Given the description of an element on the screen output the (x, y) to click on. 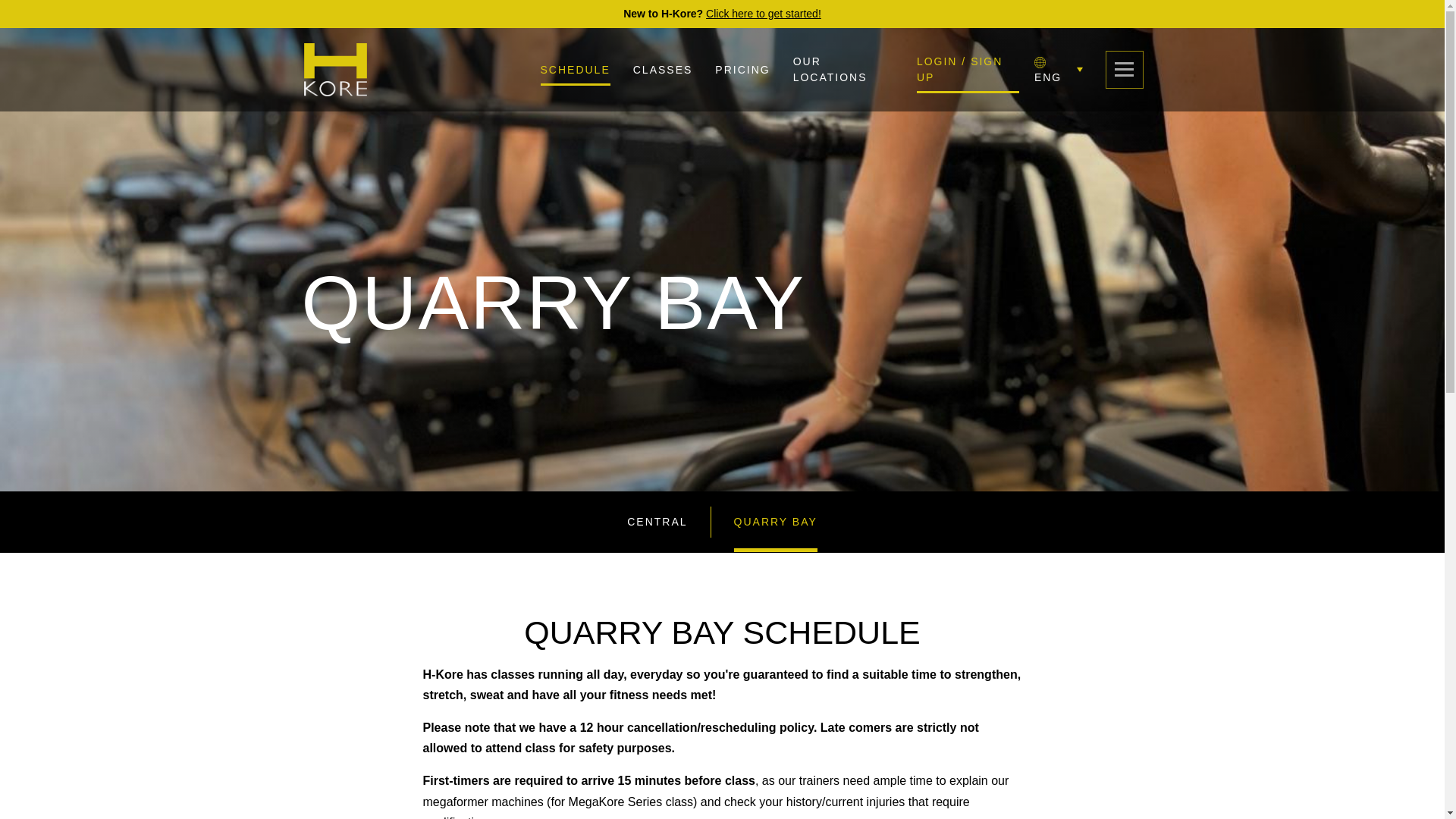
PRICING (742, 69)
H-KORE (335, 69)
SCHEDULE (575, 69)
OUR LOCATIONS (830, 69)
Click here to get started! (763, 13)
CLASSES (663, 69)
ENG (1058, 69)
